Given the description of an element on the screen output the (x, y) to click on. 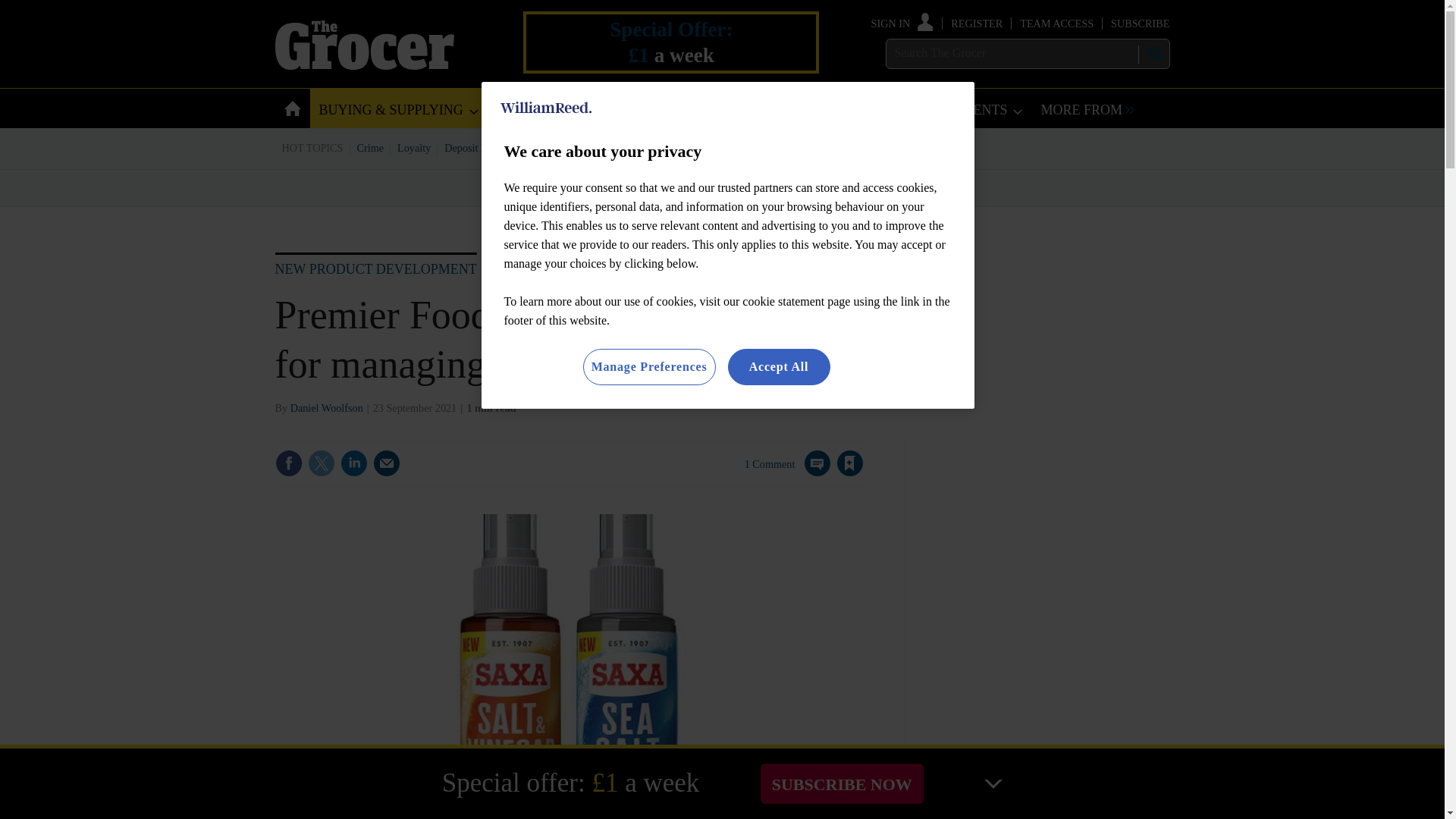
Deposit Return Schemes (497, 147)
SEARCH (1153, 53)
Share this on Linked in (352, 462)
William Reed (545, 107)
1 Comment (787, 472)
Cost of Living Crisis (699, 147)
SUBSCRIBE (1139, 23)
KVI price tracker (602, 147)
SIGN IN (902, 23)
Site name (363, 65)
